Given the description of an element on the screen output the (x, y) to click on. 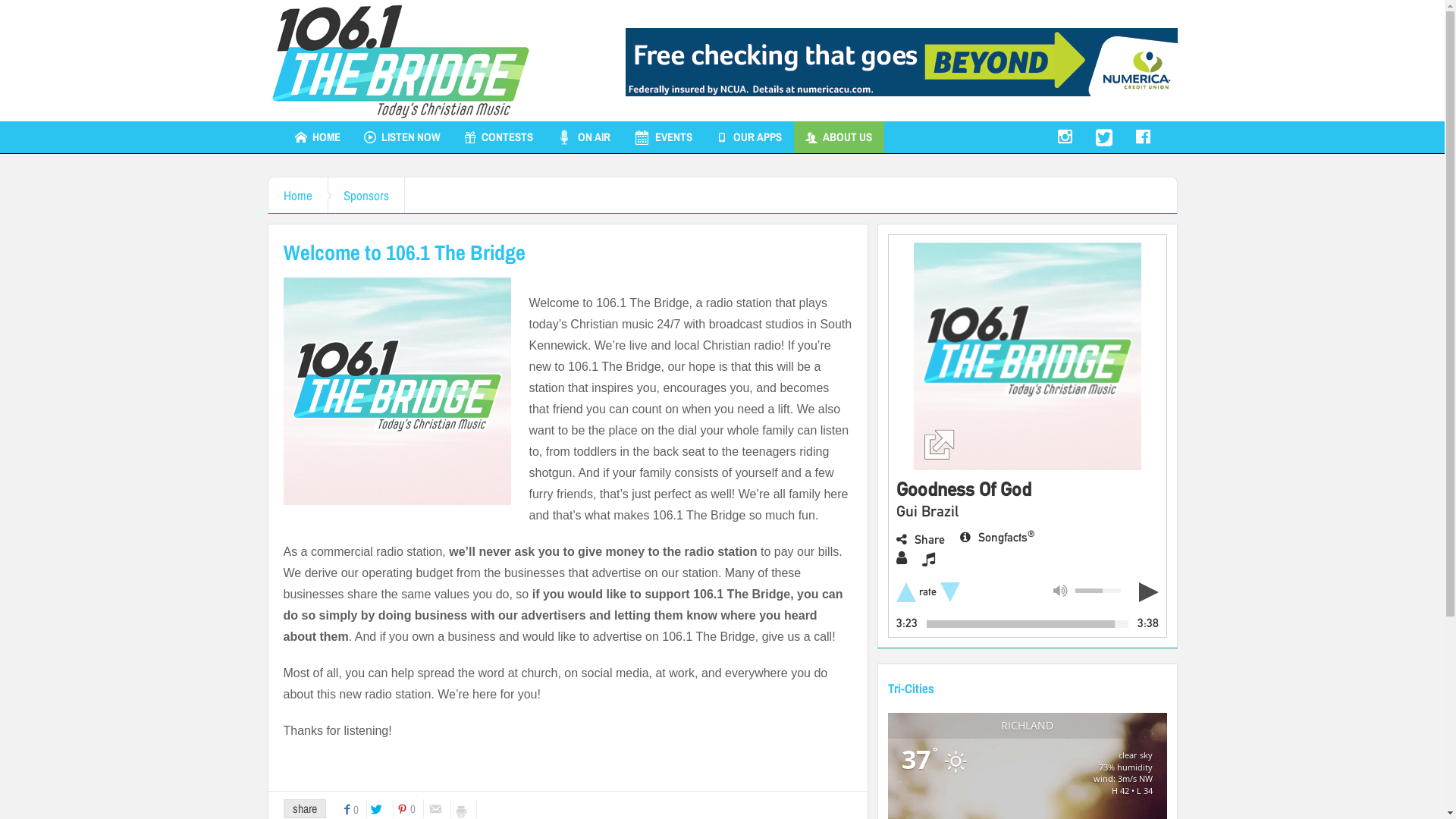
HOME Element type: text (317, 137)
0 Element type: text (354, 808)
0 Element type: text (410, 808)
ABOUT US Element type: text (837, 137)
LISTEN NOW Element type: text (401, 137)
ON AIR Element type: text (582, 137)
Discography Element type: hover (928, 558)
Artist Bio Element type: hover (901, 557)
Home Element type: text (298, 195)
CONTESTS Element type: text (497, 137)
106.1 The Bridge Element type: hover (399, 60)
Sponsors Element type: text (365, 195)
Expand Element type: hover (1026, 356)
OUR APPS Element type: text (747, 137)
EVENTS Element type: text (661, 137)
